Given the description of an element on the screen output the (x, y) to click on. 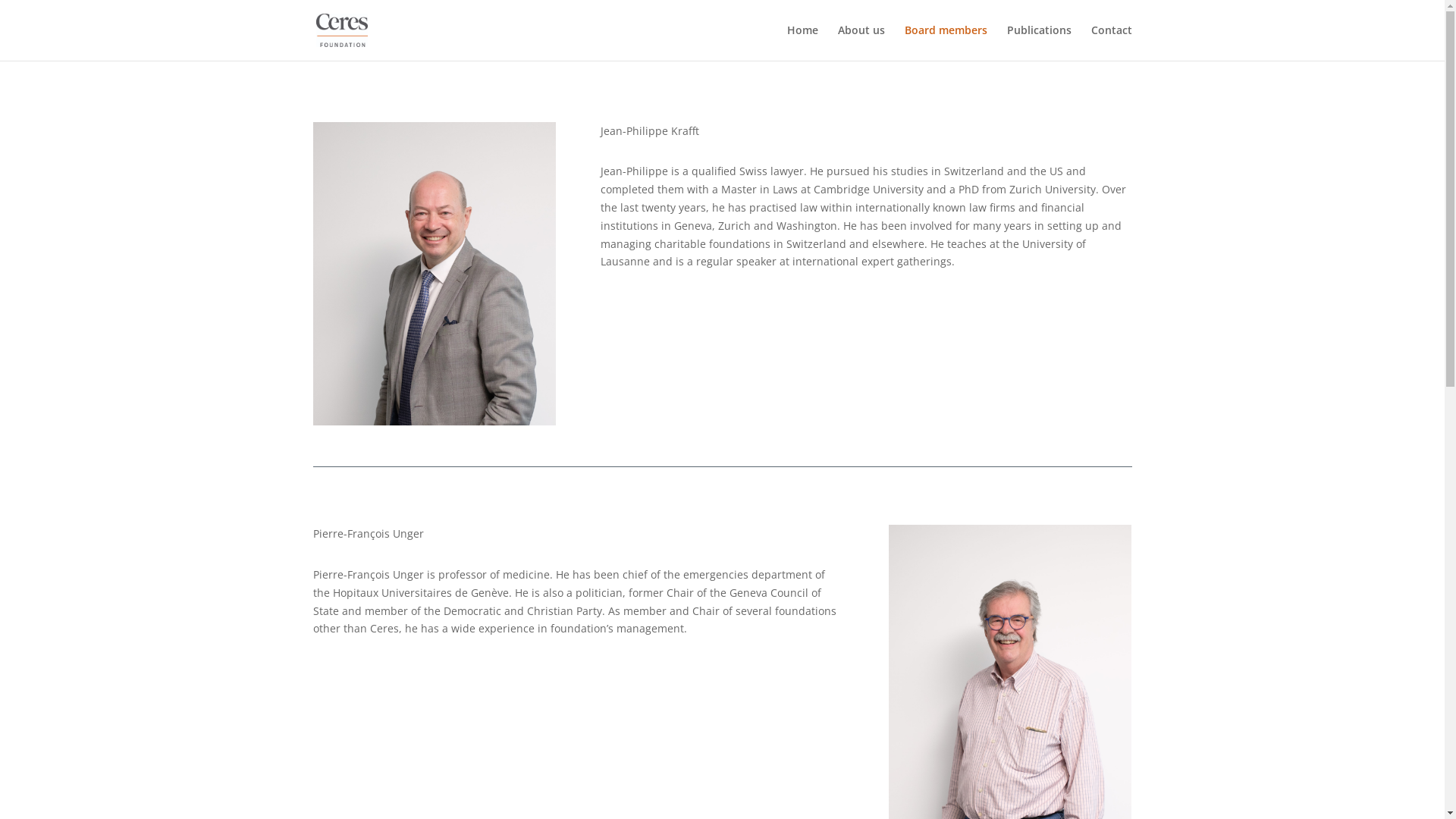
Board members Element type: text (944, 42)
Publications Element type: text (1039, 42)
About us Element type: text (860, 42)
Contact Element type: text (1110, 42)
Home Element type: text (802, 42)
